Given the description of an element on the screen output the (x, y) to click on. 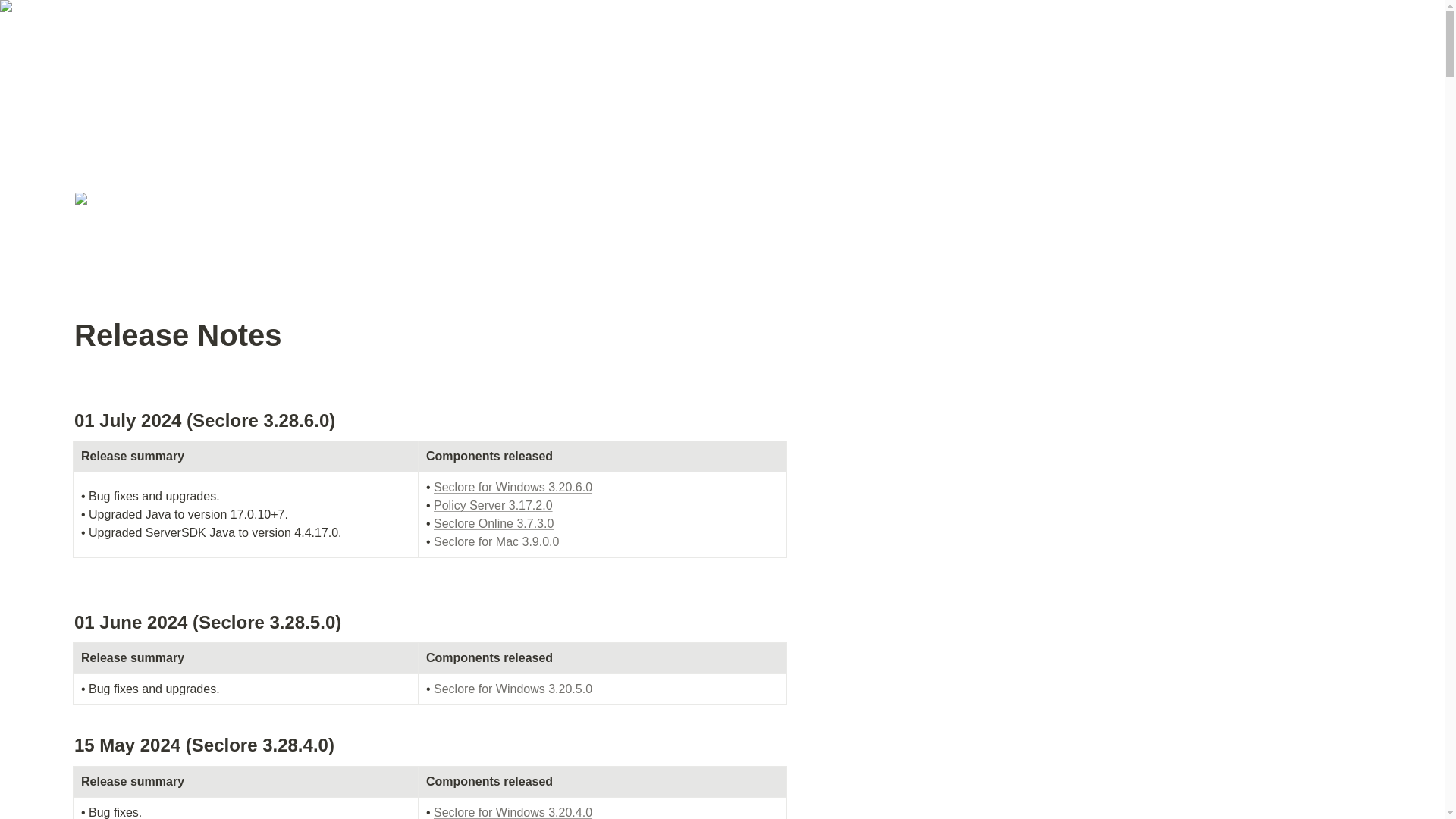
Seclore for Windows 3.20.6.0 (512, 486)
Seclore Online 3.7.3.0 (493, 522)
Seclore for Mac 3.9.0.0 (496, 541)
Seclore for Windows 3.20.5.0 (512, 688)
Seclore for Windows 3.20.4.0 (512, 812)
Policy Server 3.17.2.0 (493, 504)
